Given the description of an element on the screen output the (x, y) to click on. 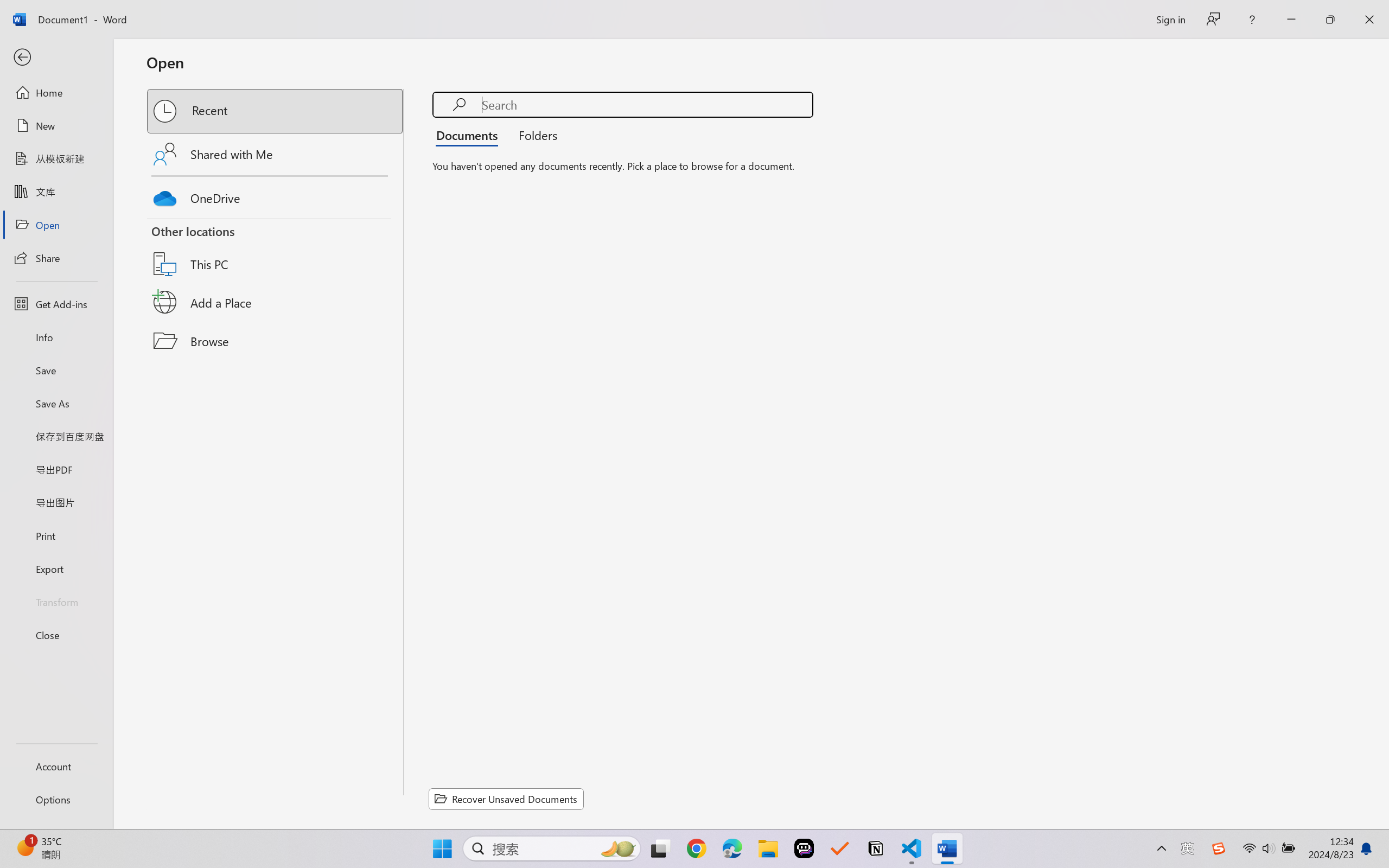
Export (56, 568)
Folders (534, 134)
Get Add-ins (56, 303)
Recover Unsaved Documents (506, 798)
